Given the description of an element on the screen output the (x, y) to click on. 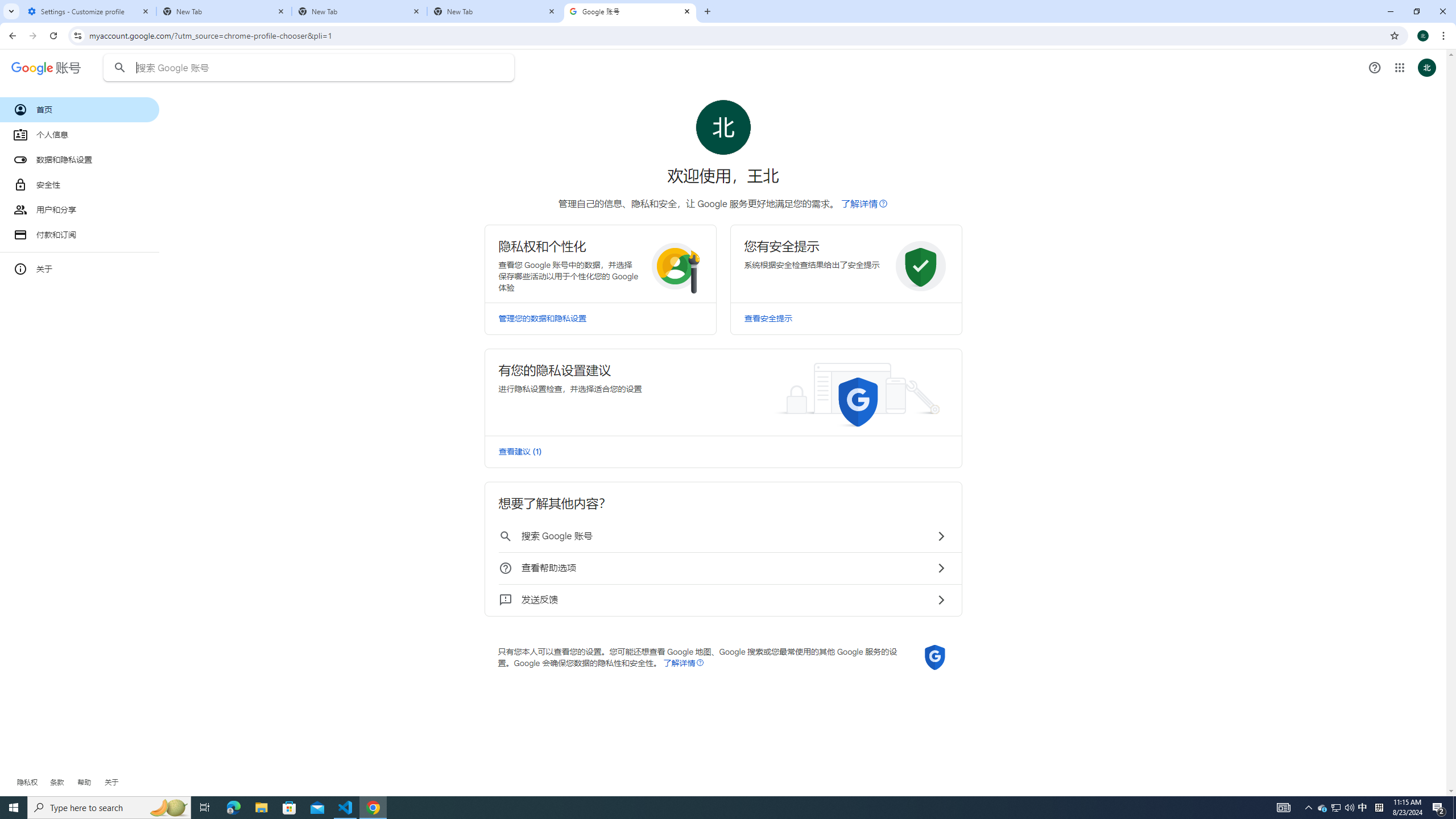
New Tab (359, 11)
Settings - Customize profile (88, 11)
